Given the description of an element on the screen output the (x, y) to click on. 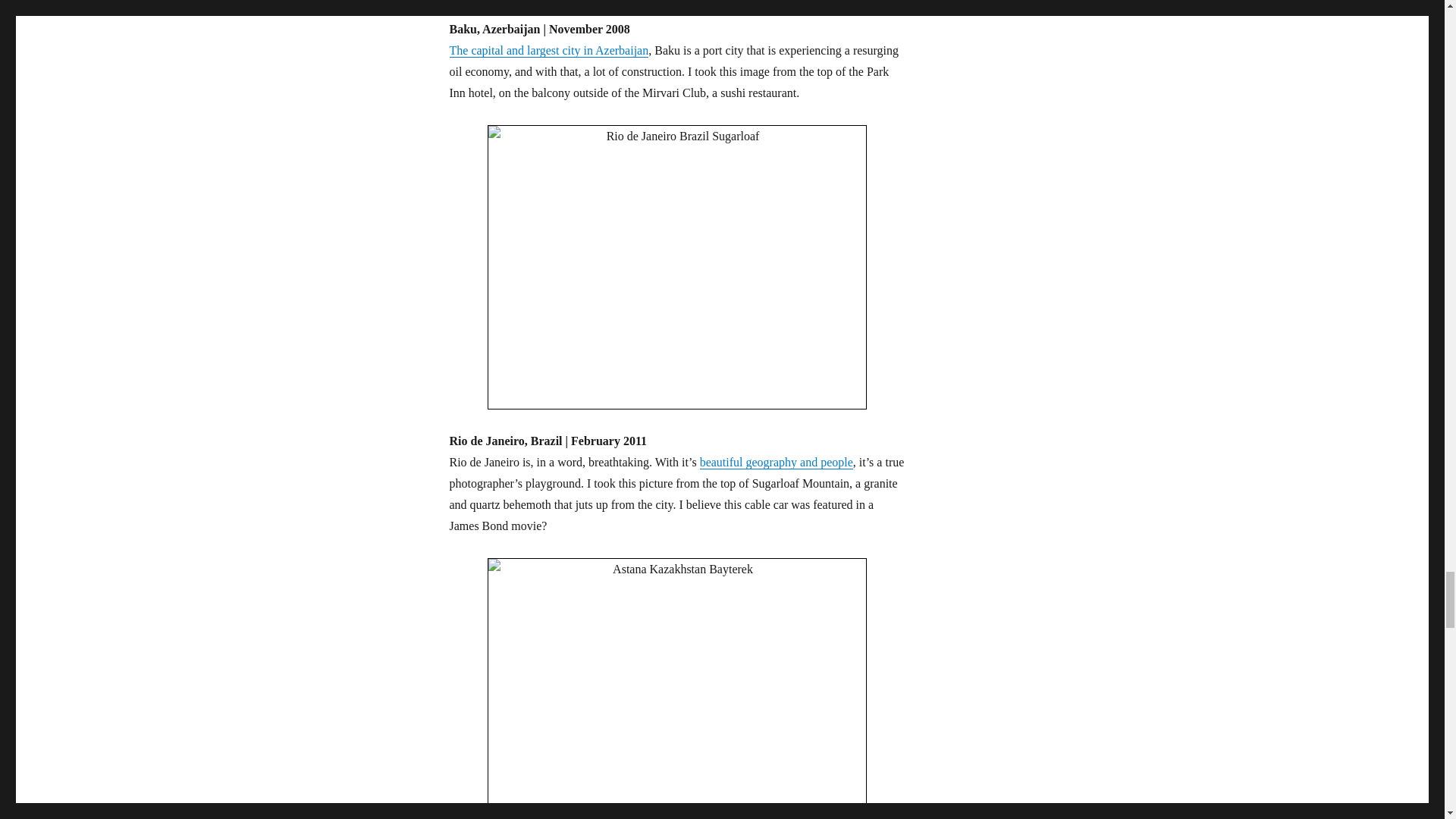
Astana Kazakhstan Bayterek (676, 688)
Rio de Janeiro Brazil Sugarloaf (676, 267)
